Given the description of an element on the screen output the (x, y) to click on. 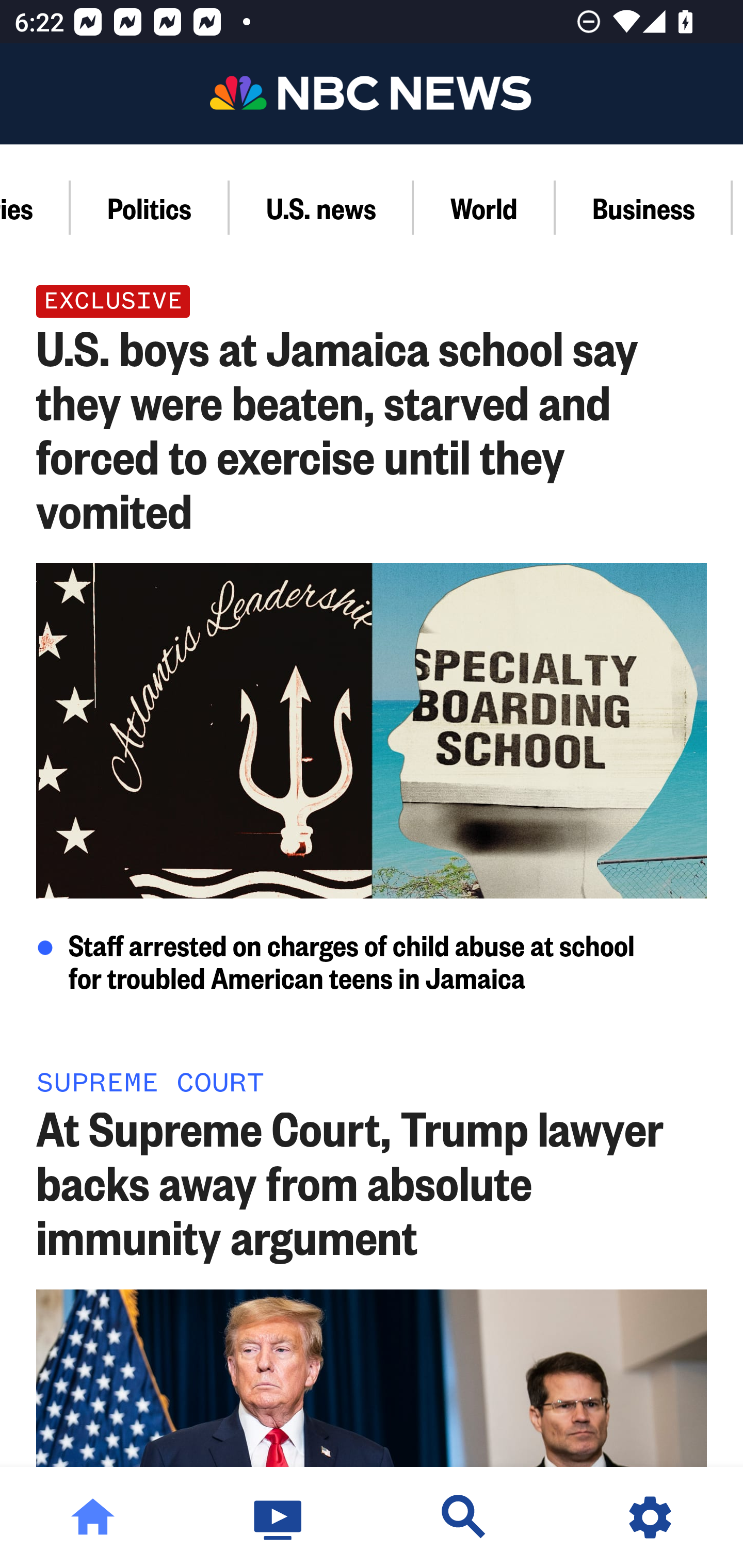
Politics Section,Politics (149, 207)
U.S. news Section,U.S. news (321, 207)
World Section,World (484, 207)
Business Section,Business (643, 207)
Watch (278, 1517)
Discover (464, 1517)
Settings (650, 1517)
